Given the description of an element on the screen output the (x, y) to click on. 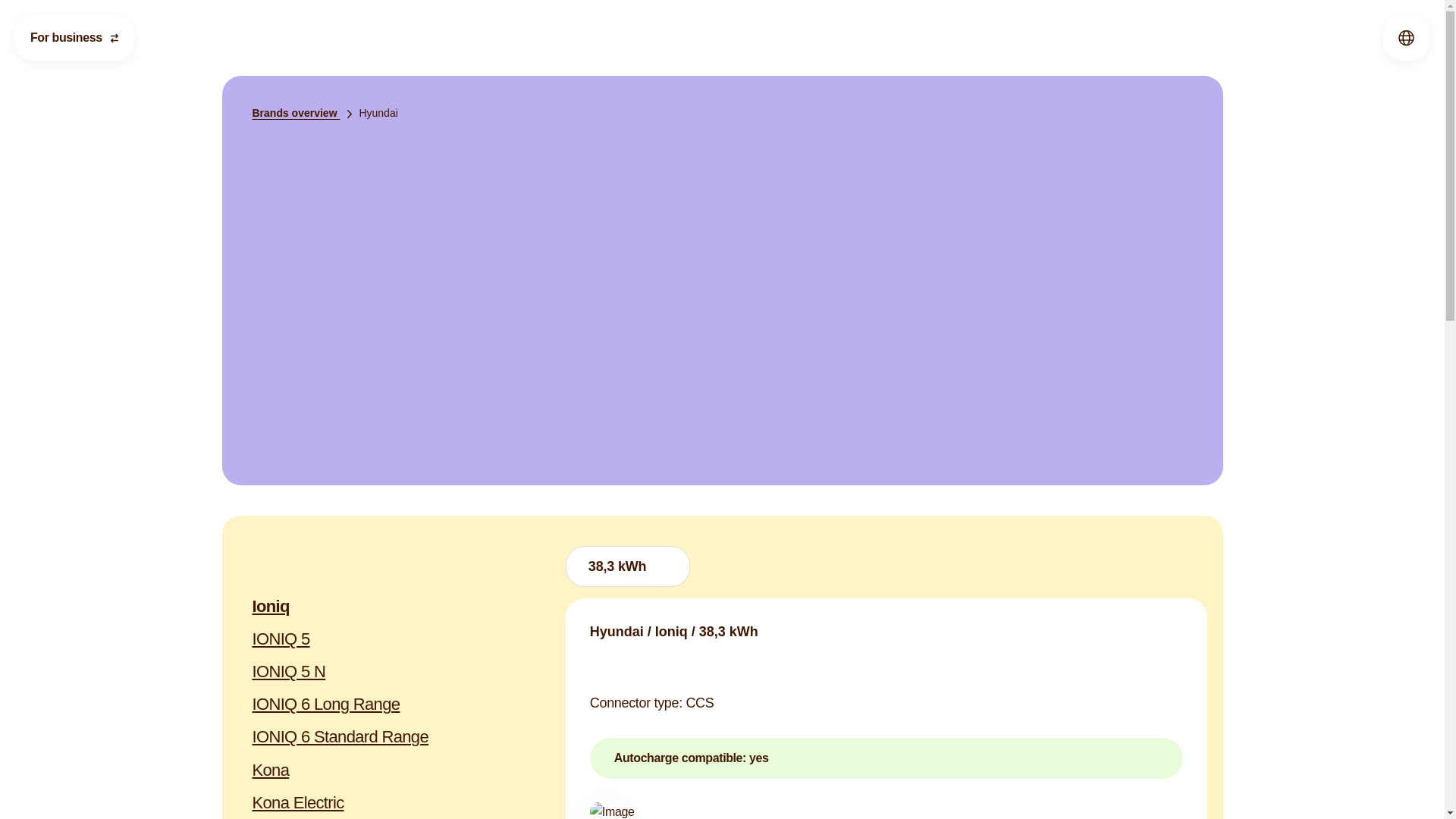
Hyundai (377, 112)
For business (73, 37)
Brands overview (304, 112)
